Given the description of an element on the screen output the (x, y) to click on. 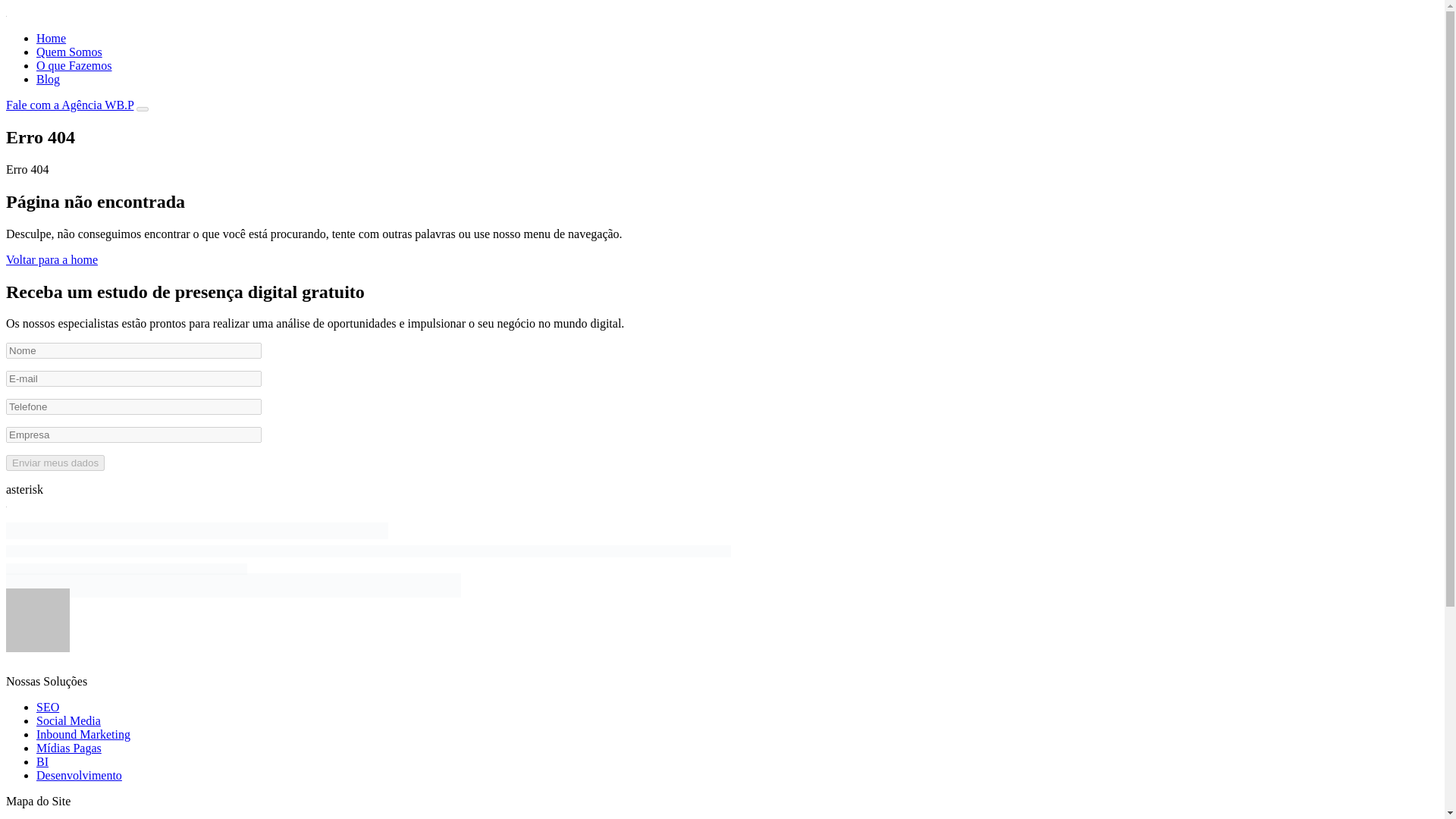
Social Media (68, 720)
SEO (47, 707)
Home (50, 38)
O que Fazemos (74, 65)
Voltar para a home (51, 259)
Blog (47, 78)
Enviar meus dados (54, 462)
BI (42, 761)
